Given the description of an element on the screen output the (x, y) to click on. 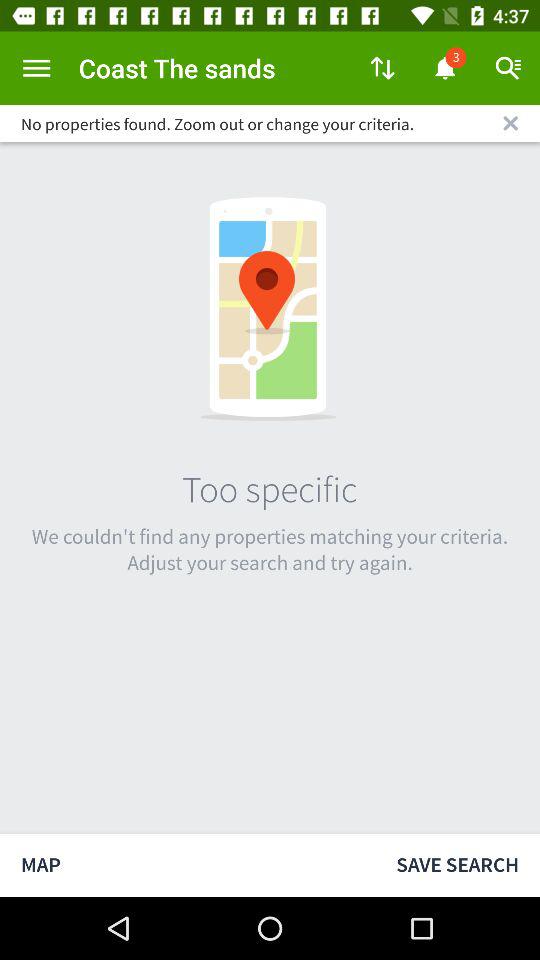
open menu (36, 68)
